Given the description of an element on the screen output the (x, y) to click on. 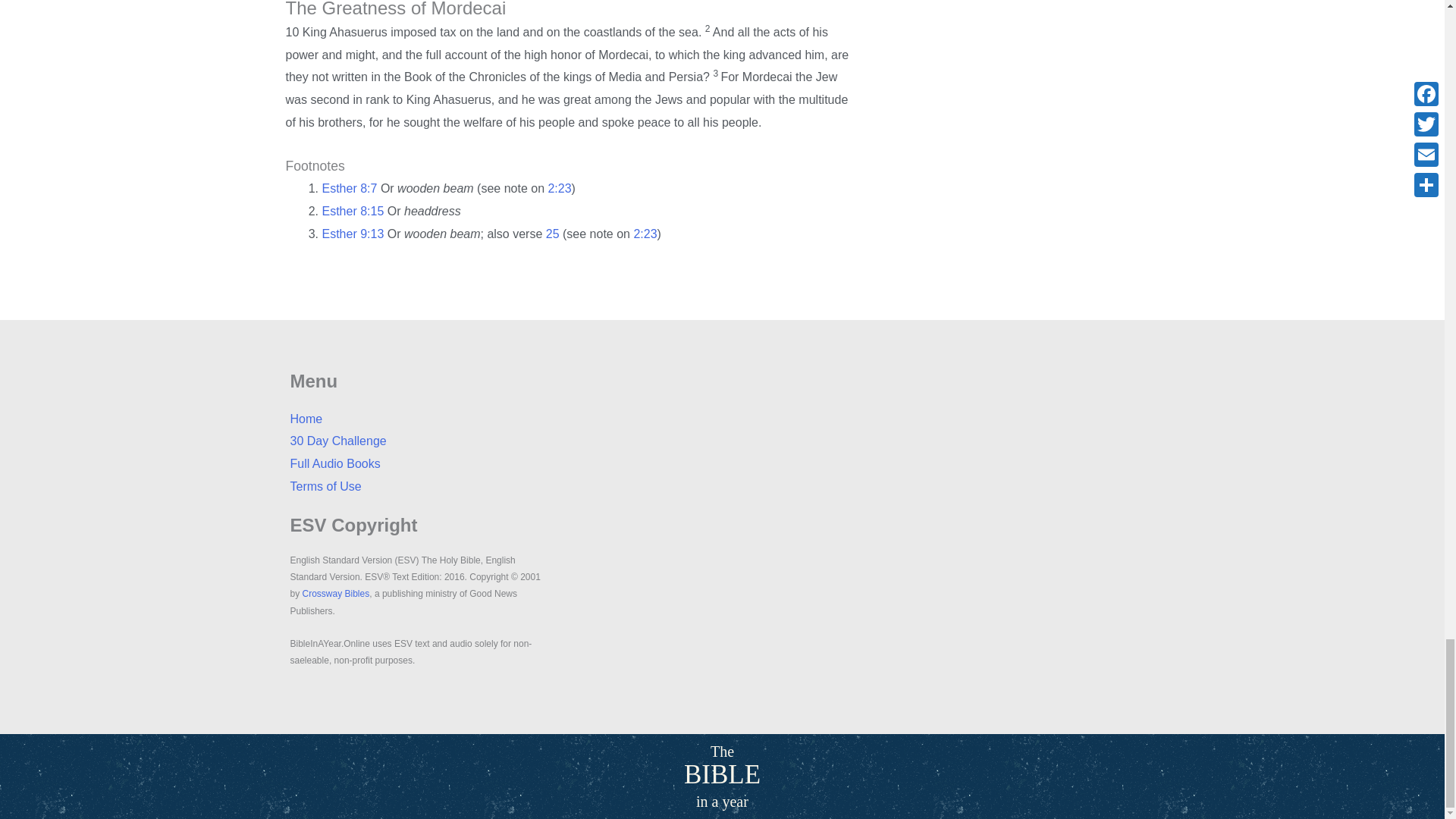
Go to Esther 8:7 (349, 187)
Go to Esther 9:13 (352, 233)
Esther 8:15 (352, 210)
25 (552, 233)
Go to Esther 8:15 (352, 210)
2:23 (644, 233)
Esther 8:7 (349, 187)
2:23 (558, 187)
Esther 9:13 (352, 233)
